Given the description of an element on the screen output the (x, y) to click on. 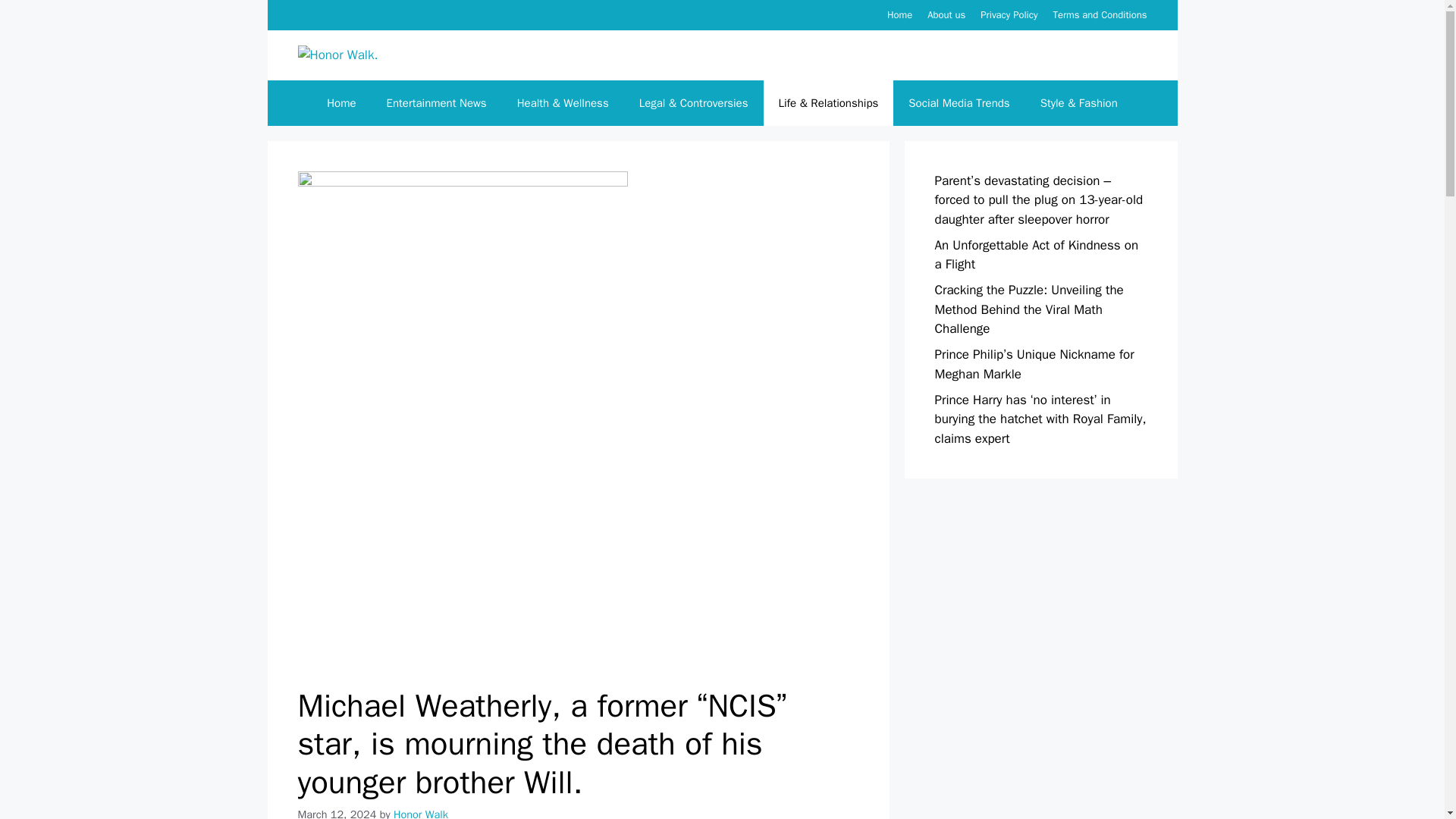
View all posts by Honor Walk (420, 813)
Honor Walk (420, 813)
An Unforgettable Act of Kindness on a Flight (1036, 254)
Social Media Trends (959, 103)
Entertainment News (436, 103)
Home (899, 14)
Home (341, 103)
Privacy Policy (1007, 14)
Terms and Conditions (1099, 14)
